Given the description of an element on the screen output the (x, y) to click on. 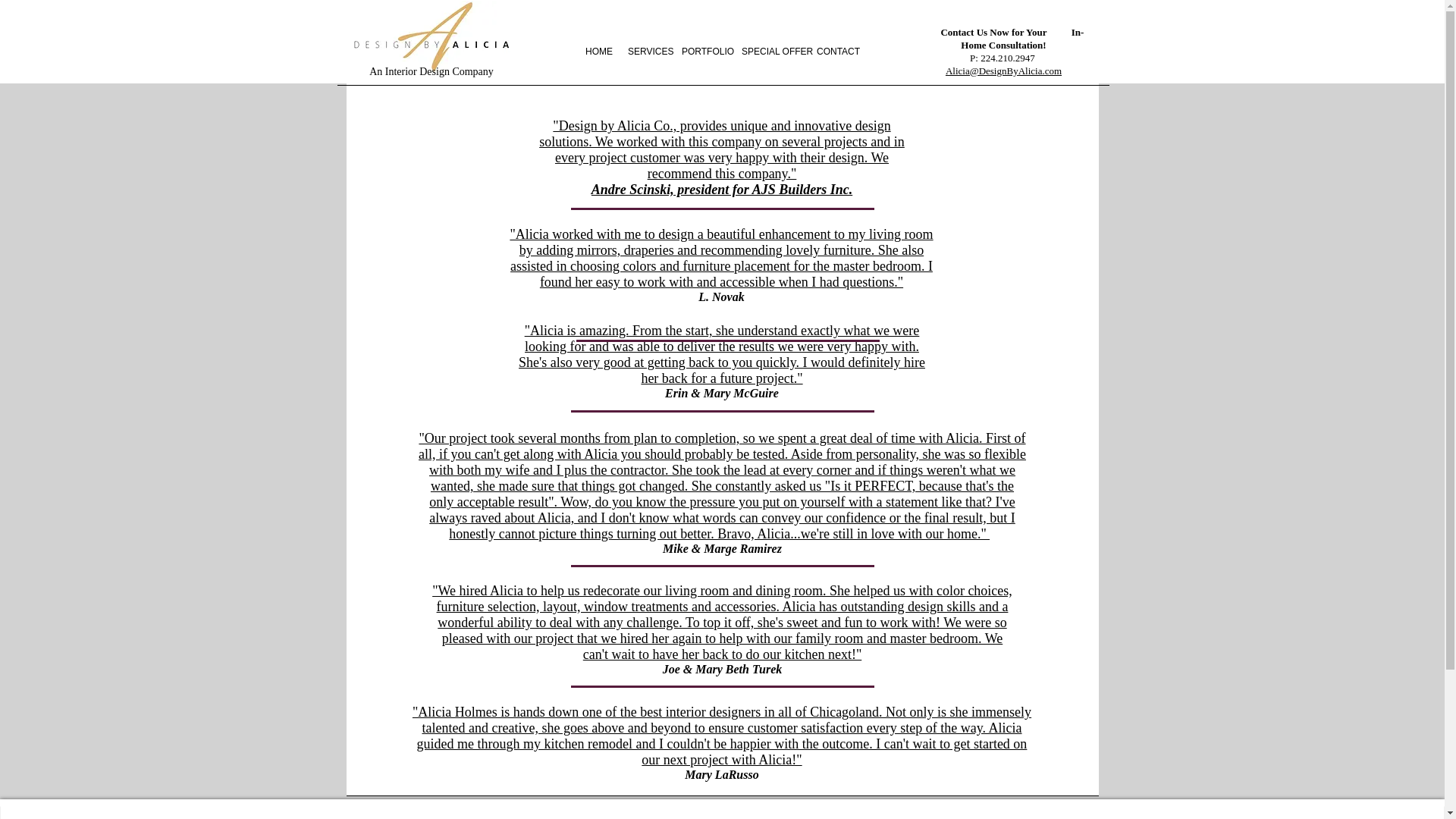
HOME (599, 51)
CONTACT (837, 51)
SPECIAL OFFER (771, 51)
Logo.jpg (431, 37)
PORTFOLIO (703, 51)
